Given the description of an element on the screen output the (x, y) to click on. 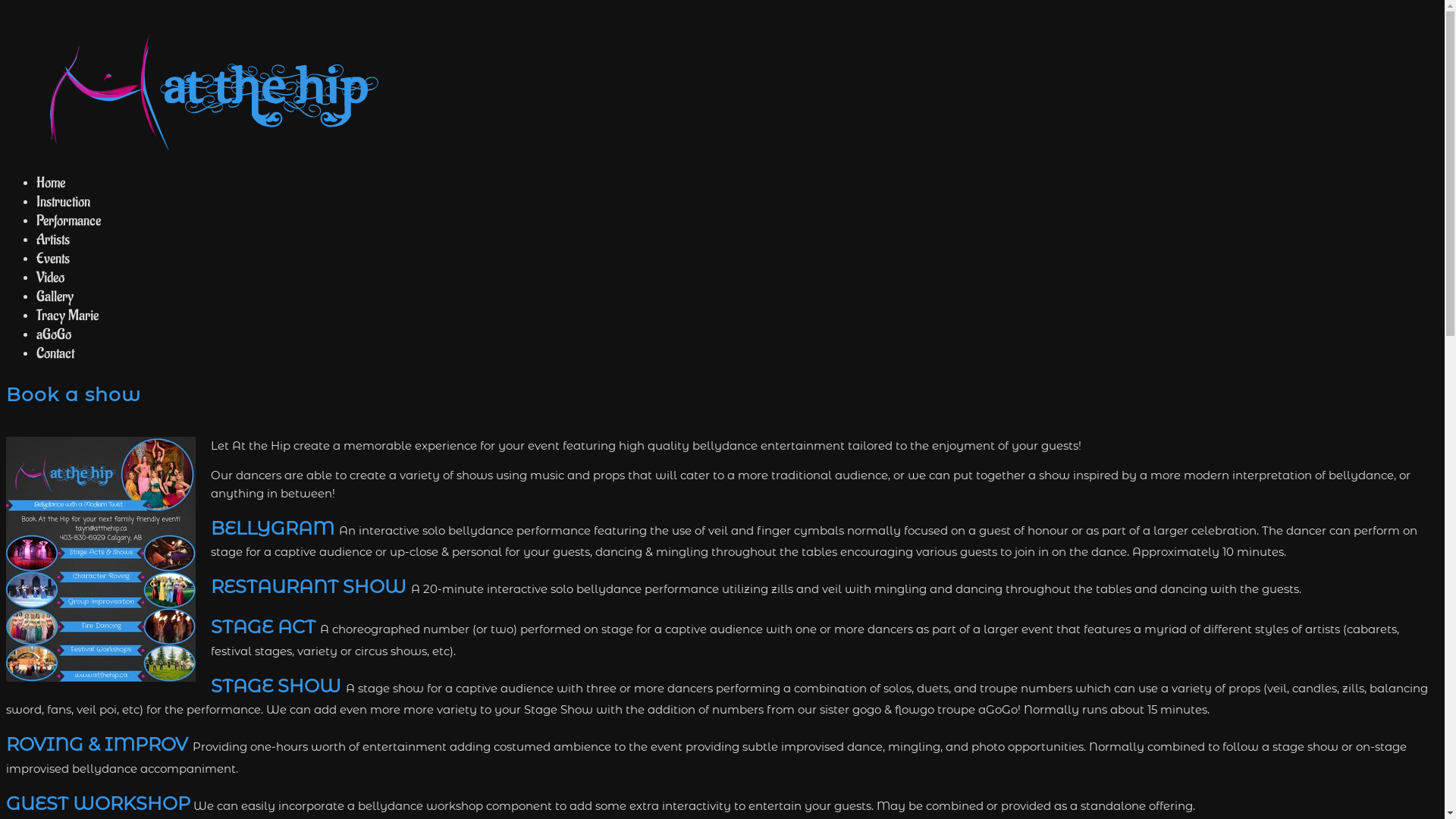
aGoGo Element type: text (53, 334)
Home Element type: text (50, 182)
Events Element type: text (52, 258)
Contact Element type: text (55, 353)
Video Element type: text (50, 277)
Artists Element type: text (52, 239)
Instruction Element type: text (63, 201)
Tracy Marie Element type: text (67, 315)
Gallery Element type: text (54, 296)
Performance Element type: text (68, 220)
